Given the description of an element on the screen output the (x, y) to click on. 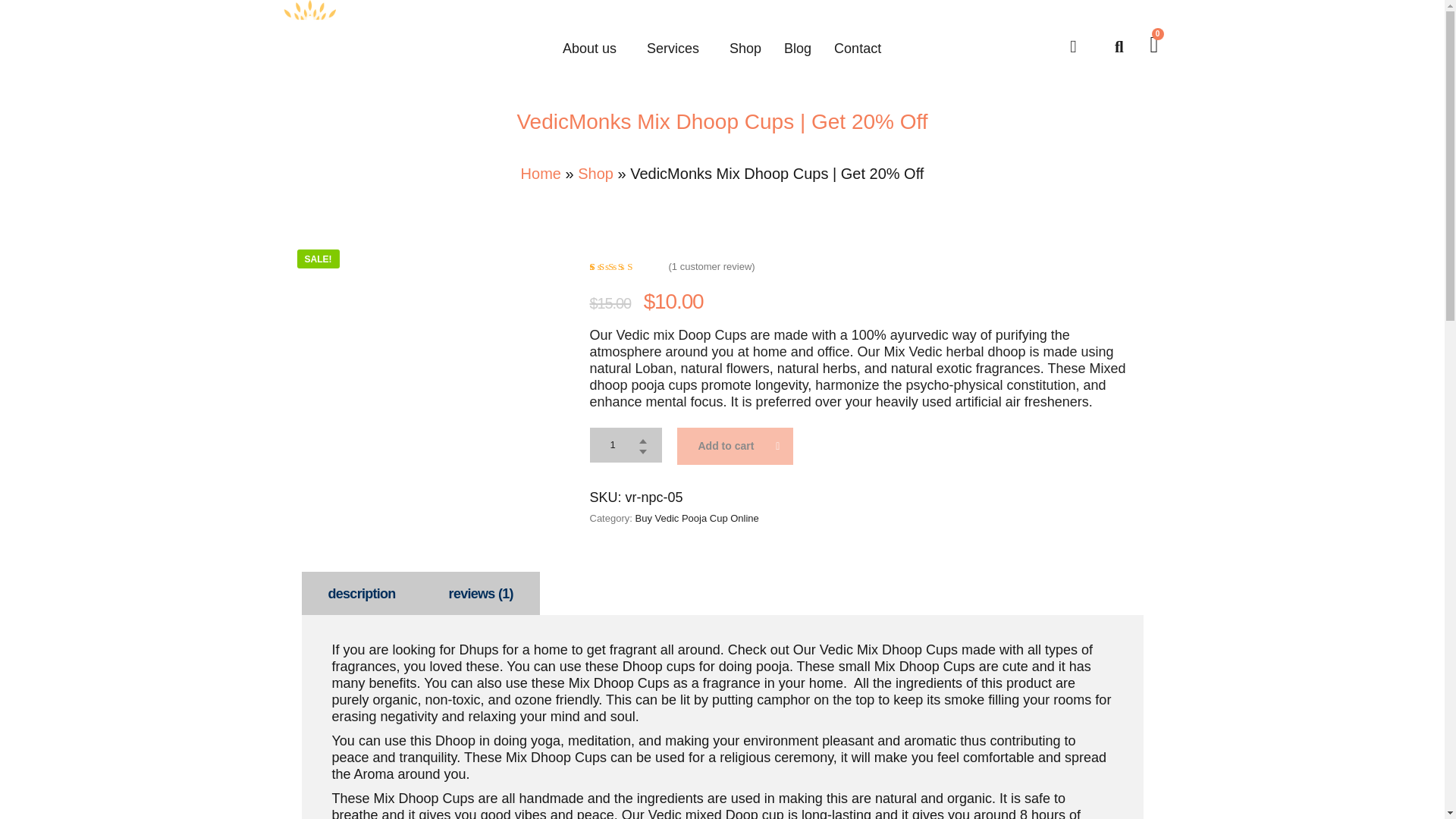
Qty (625, 444)
Shop (745, 48)
1 (625, 444)
About us (592, 48)
Contact (857, 48)
Blog (797, 48)
Services (675, 48)
